Given the description of an element on the screen output the (x, y) to click on. 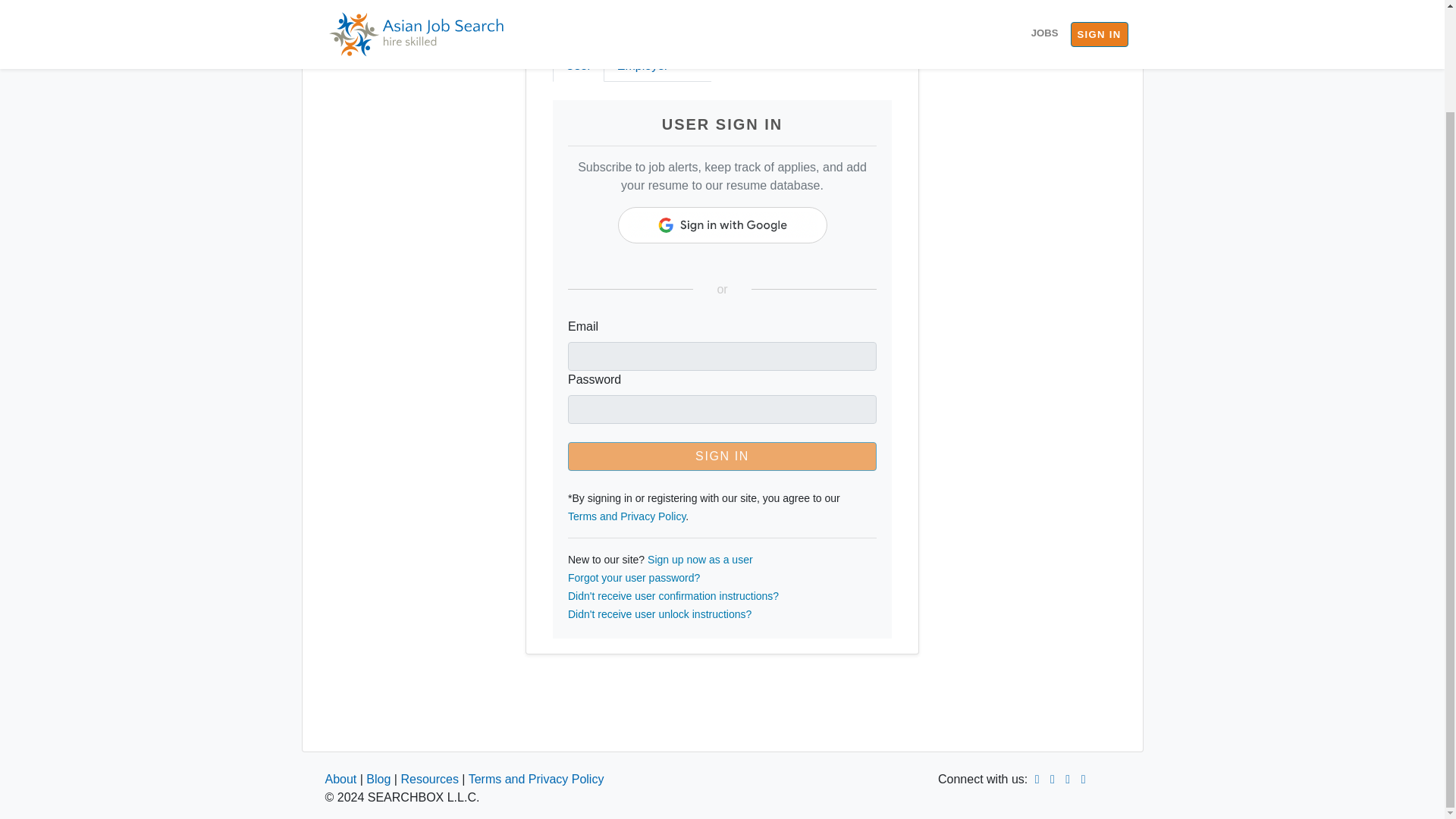
Terms and Privacy Policy (536, 779)
About (340, 779)
Terms and Privacy Policy (626, 516)
Blog (378, 779)
Resources (429, 779)
Sign up now as a user (699, 559)
User (578, 65)
Employer (642, 65)
Didn't receive user confirmation instructions? (672, 595)
Didn't receive user unlock instructions? (659, 613)
